Given the description of an element on the screen output the (x, y) to click on. 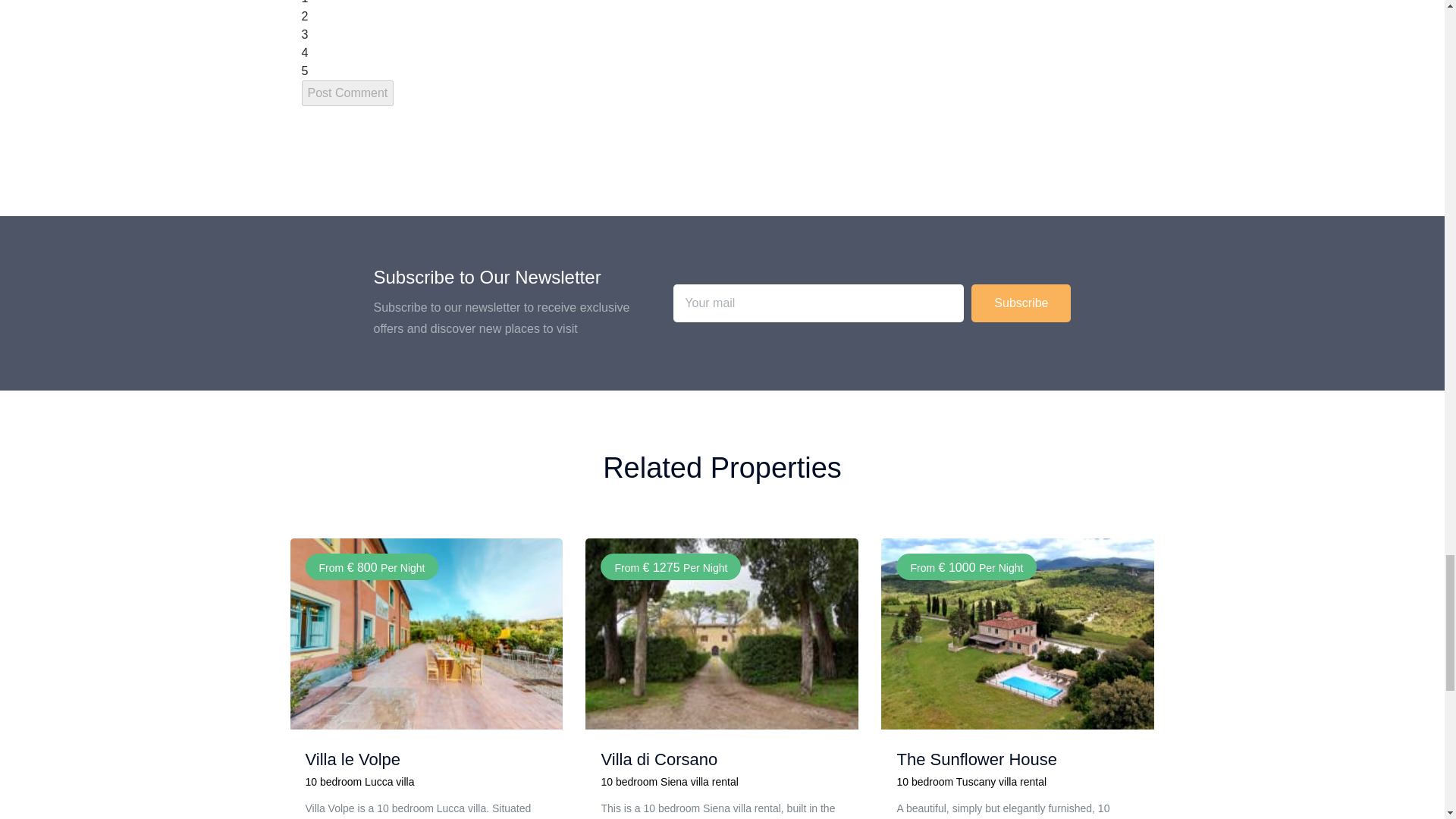
1 (304, 2)
Post Comment (347, 93)
